Given the description of an element on the screen output the (x, y) to click on. 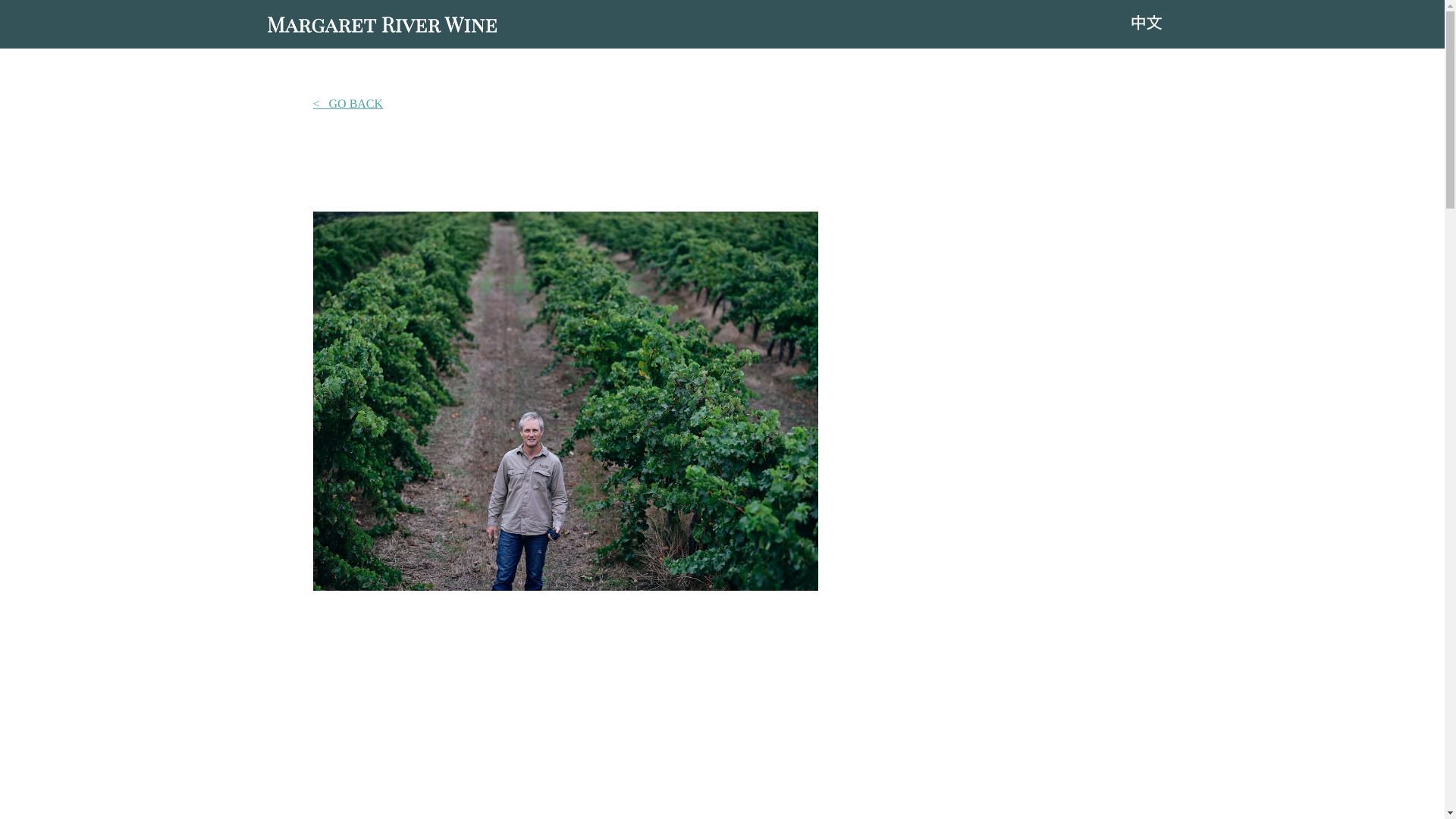
VISIT (856, 23)
Group 324 Created with Sketch. (1146, 22)
NEWS (913, 23)
WINERIES (781, 23)
ABOUT (703, 23)
EVENTS (981, 23)
WINE SHOW (1071, 23)
Group 324 Created with Sketch. (1146, 10)
